Given the description of an element on the screen output the (x, y) to click on. 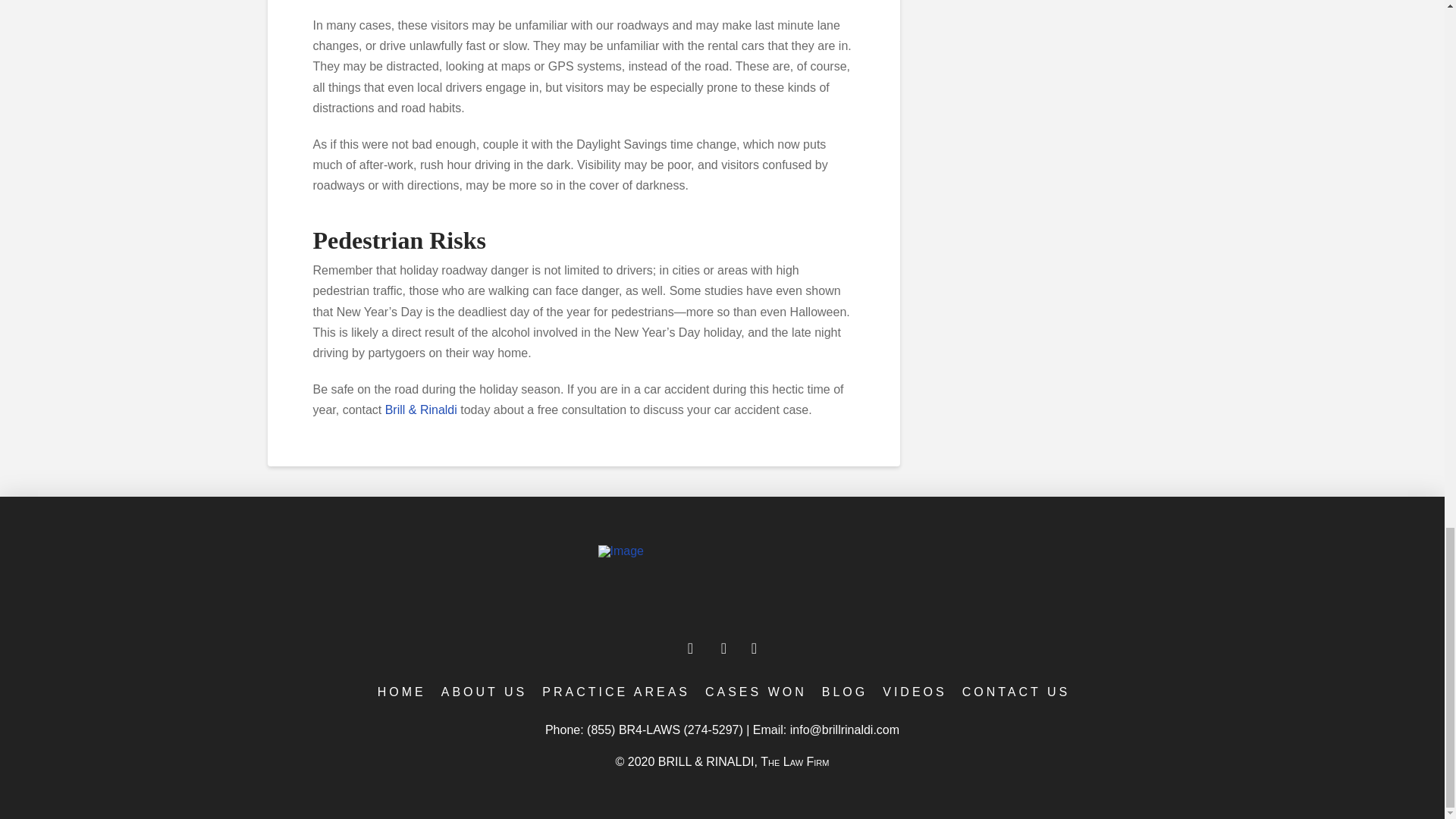
BLOG (842, 692)
ABOUT US (483, 692)
PRACTICE AREAS (613, 692)
CONTACT US (1015, 692)
VIDEOS (912, 692)
HOME (400, 692)
CASES WON (753, 692)
